Given the description of an element on the screen output the (x, y) to click on. 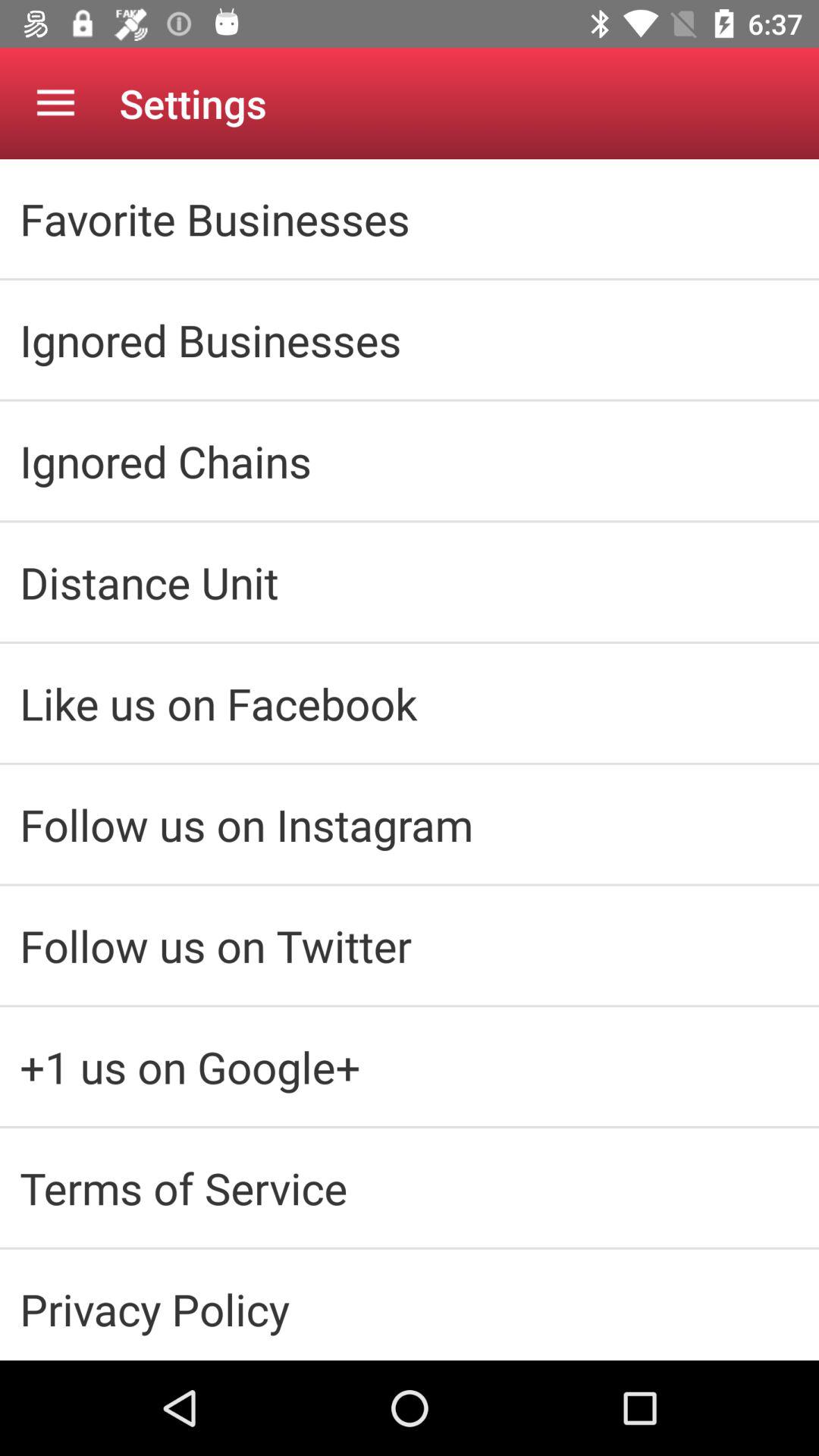
select item below ignored chains icon (409, 581)
